Given the description of an element on the screen output the (x, y) to click on. 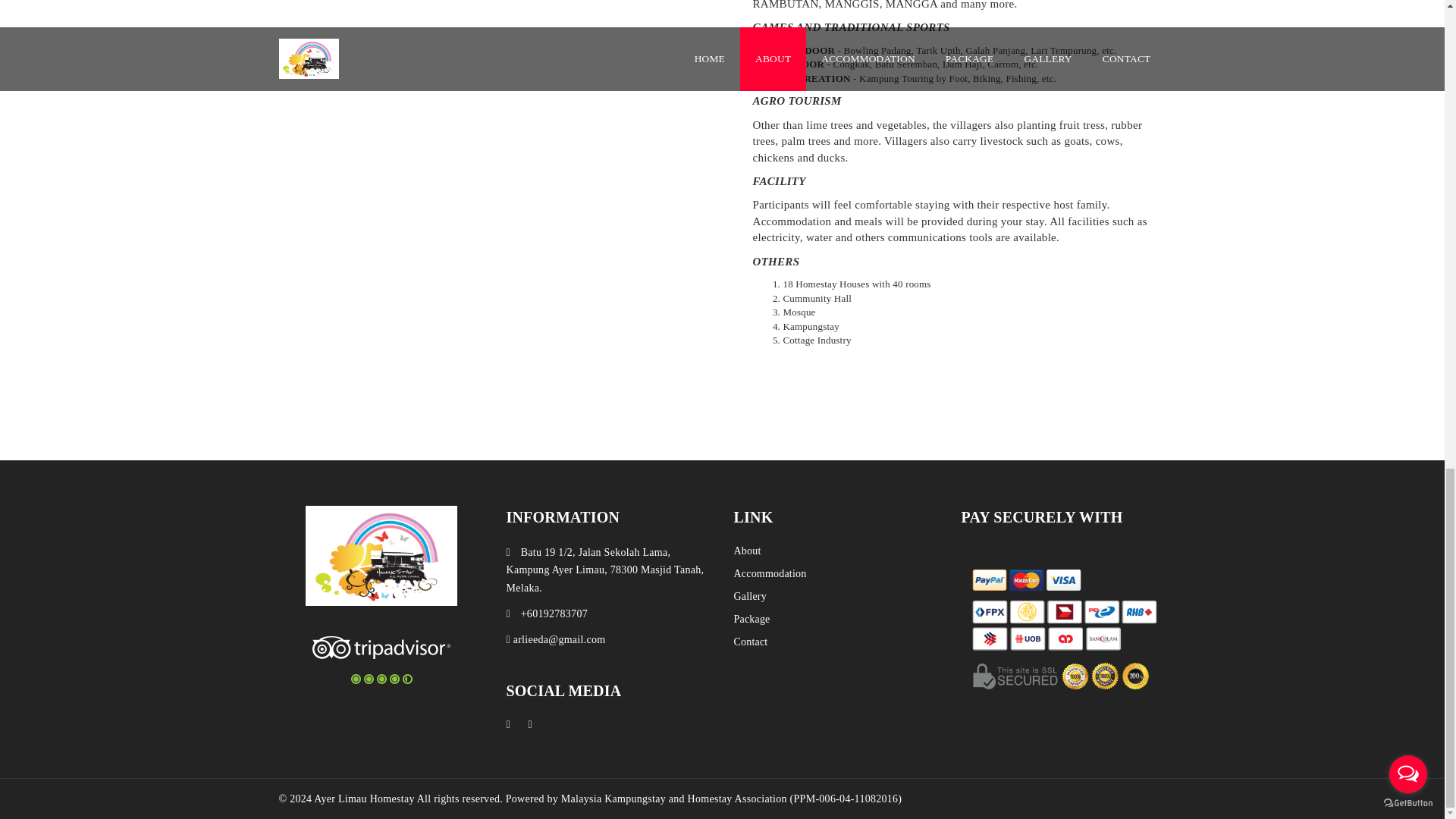
About (747, 550)
Accommodation (769, 573)
Package (751, 619)
Gallery (750, 596)
Contact (750, 641)
